Given the description of an element on the screen output the (x, y) to click on. 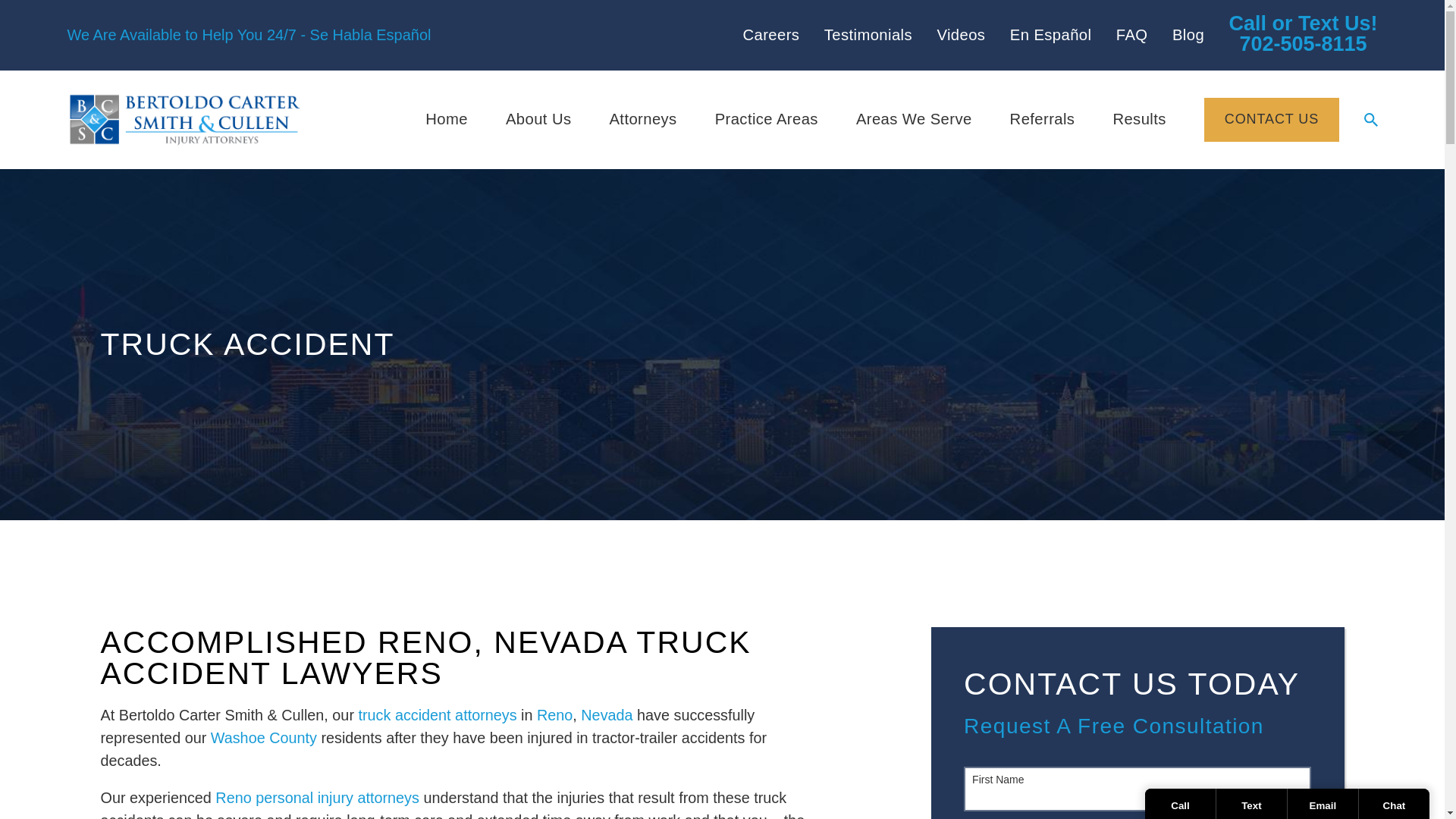
Careers (770, 34)
FAQ (1132, 34)
About Us (538, 119)
Attorneys (642, 119)
Testimonials (868, 34)
Practice Areas (766, 119)
Videos (960, 34)
Blog (1188, 34)
Home (183, 119)
702-505-8115 (1302, 34)
